Given the description of an element on the screen output the (x, y) to click on. 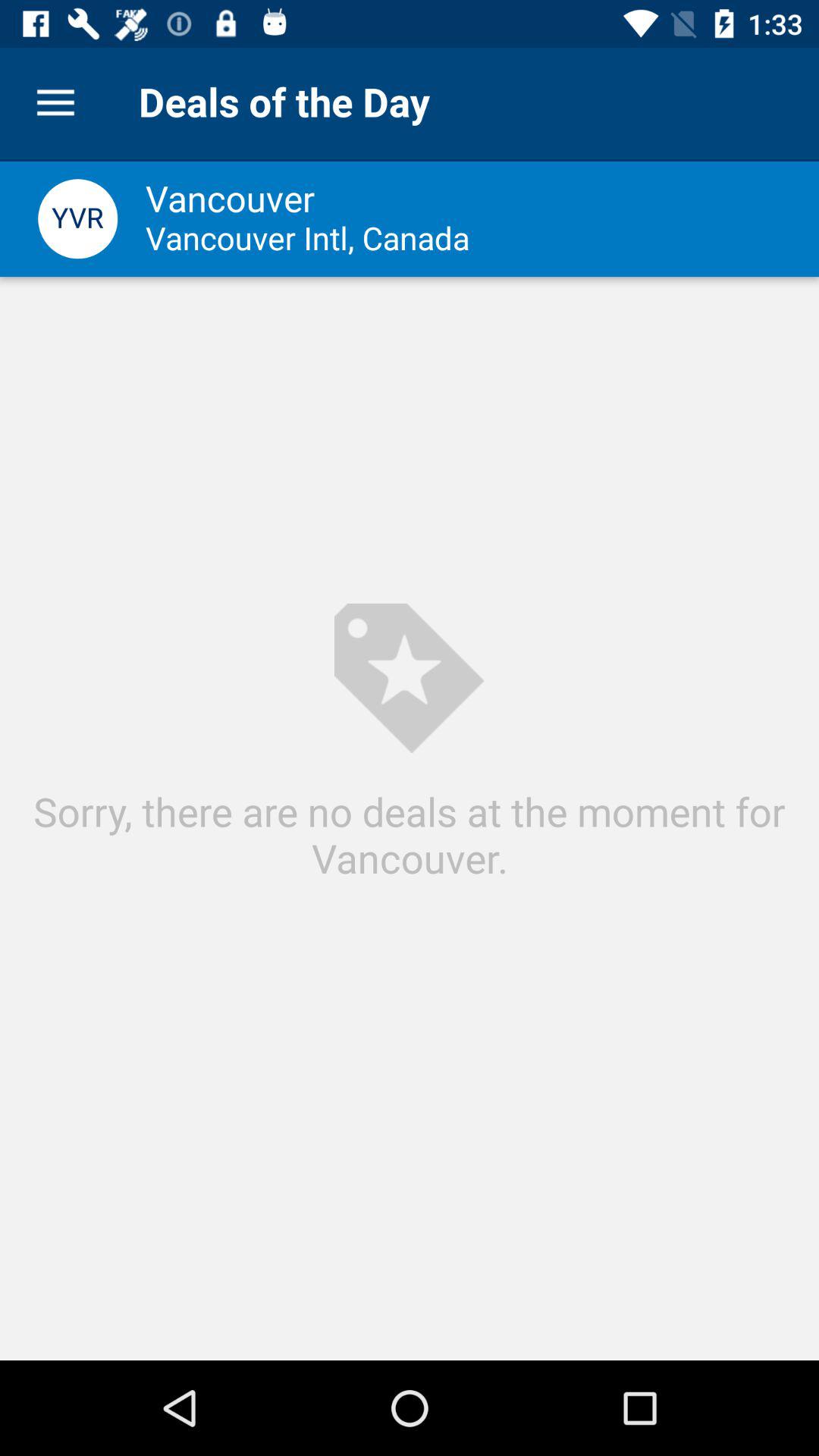
select the icon to the left of the deals of the icon (55, 103)
